Given the description of an element on the screen output the (x, y) to click on. 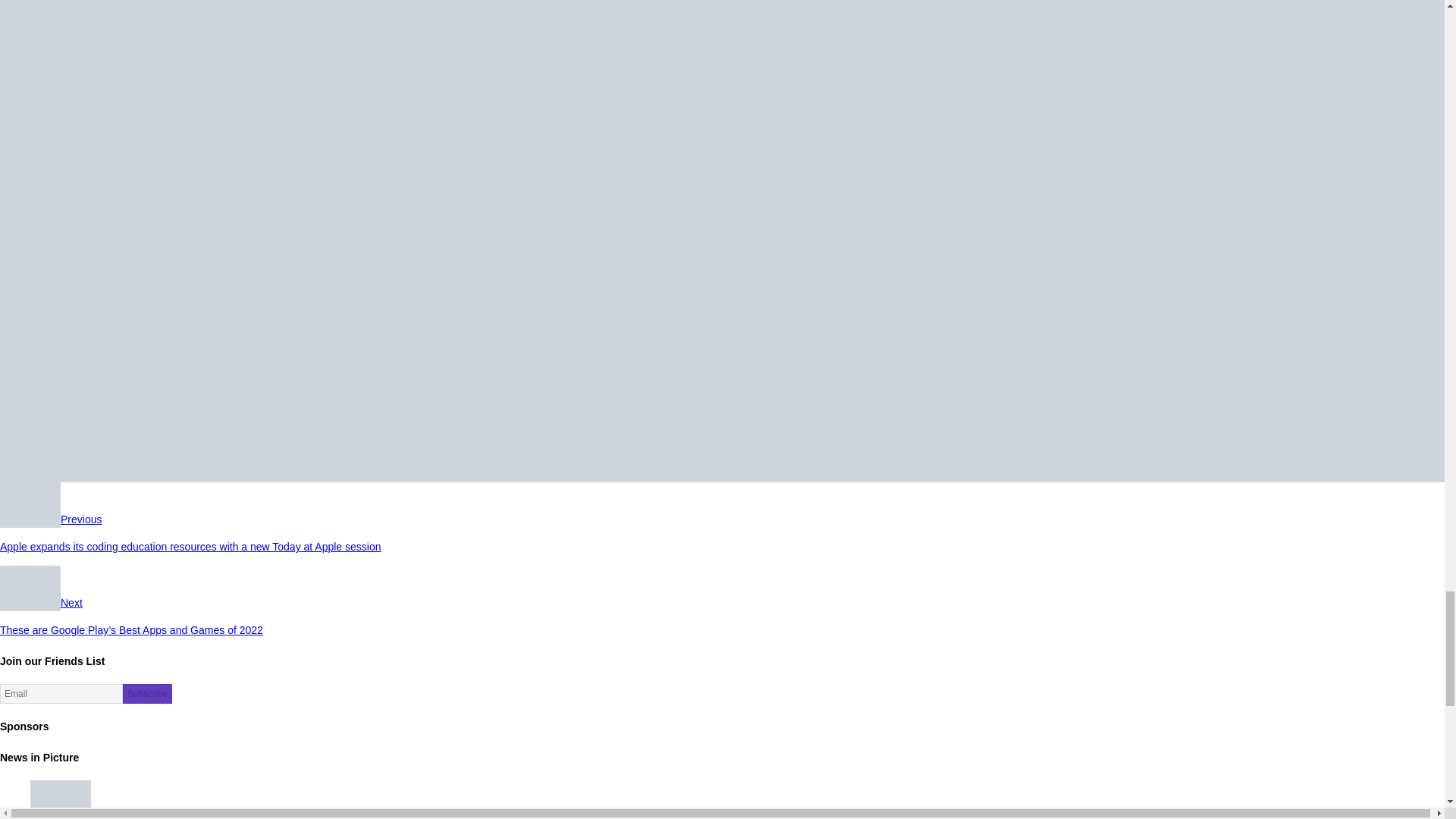
Subscribe (146, 693)
Subscribe (146, 693)
